Given the description of an element on the screen output the (x, y) to click on. 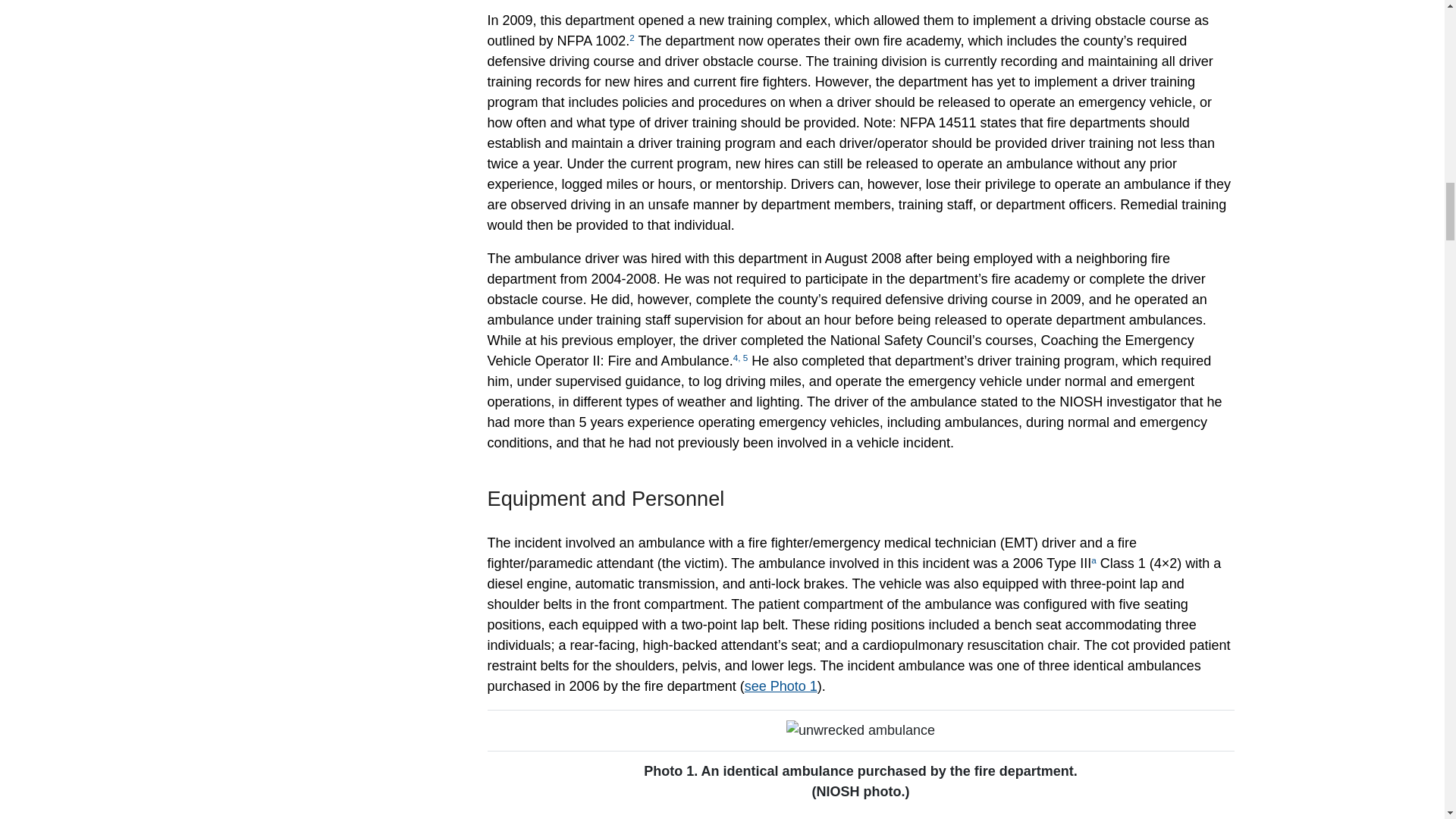
see Photo 1 (780, 685)
4, 5 (740, 357)
